Given the description of an element on the screen output the (x, y) to click on. 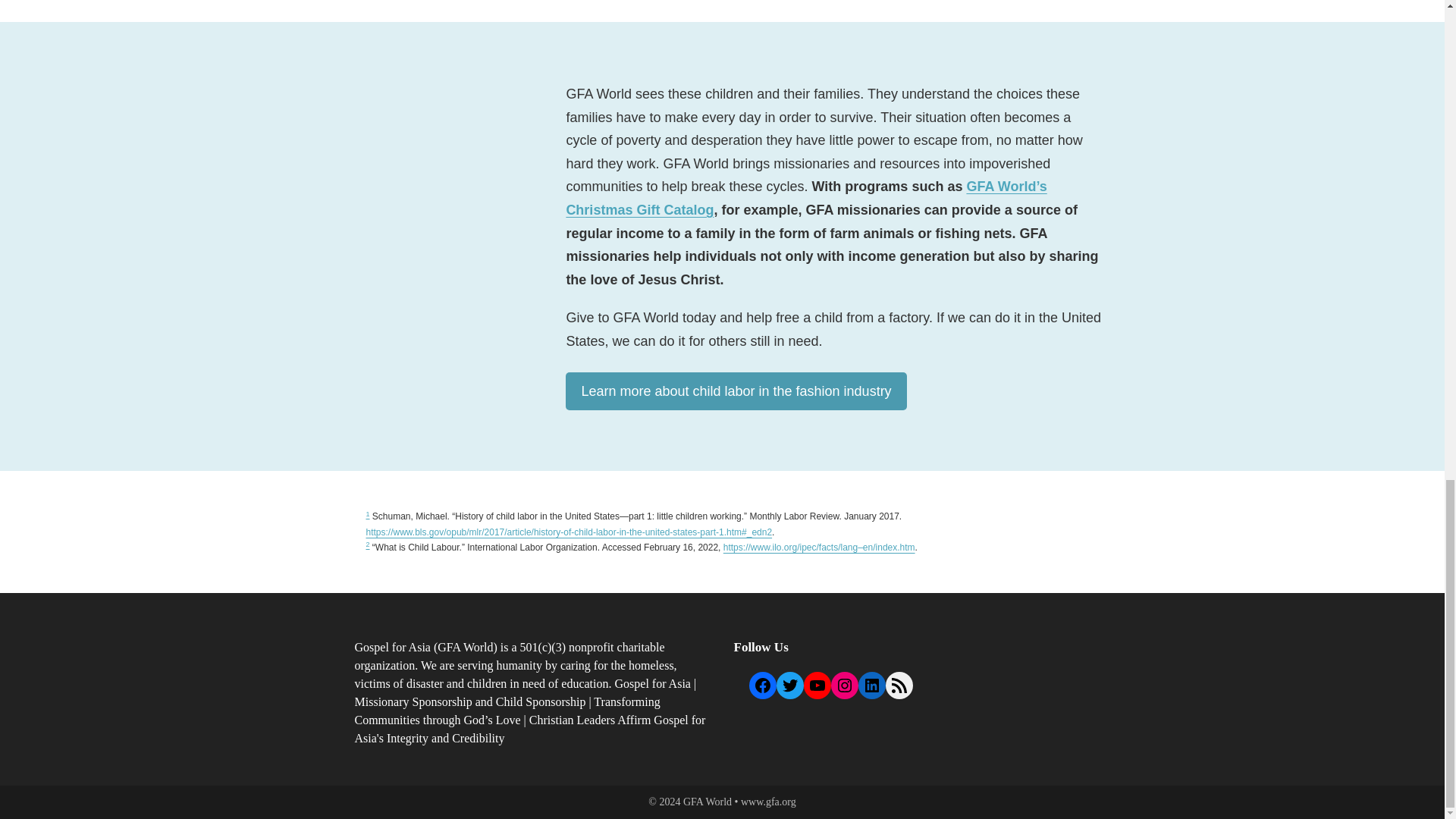
Learn more about child labor in the fashion industry (735, 391)
Missionary Sponsorship (413, 701)
GFA World Sponsor a Child (541, 701)
www.gfa.org (768, 801)
Learn more about child labor in the fashion industry (735, 391)
Child Sponsorship (541, 701)
GFA World Missionary Sponsorship (413, 701)
Gospel for Asia affirmed by Christian Leaders (530, 728)
